Given the description of an element on the screen output the (x, y) to click on. 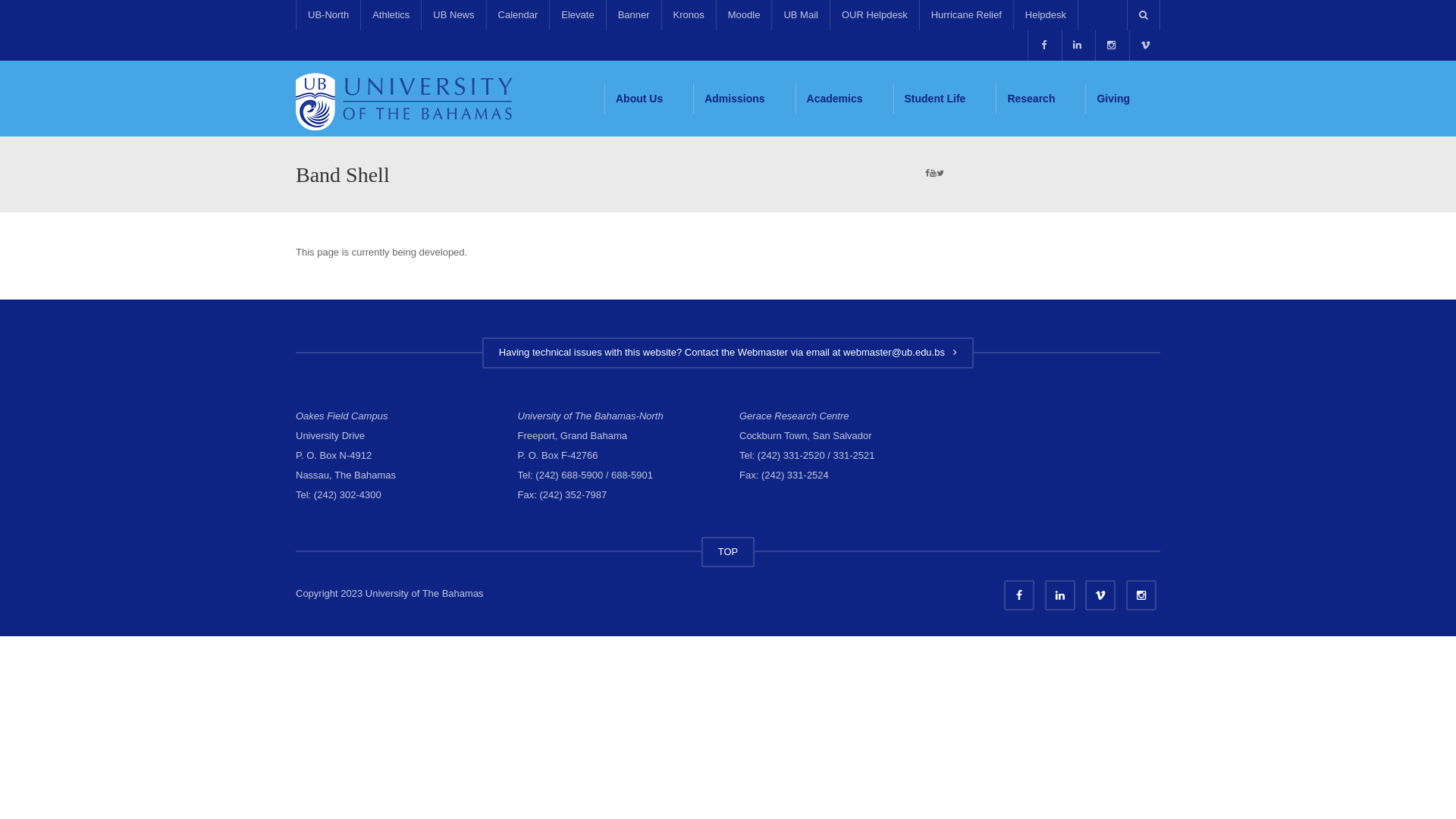
UB Mail Element type: text (800, 15)
(242) 331-2520 Element type: text (791, 455)
OUR Helpdesk Element type: text (874, 15)
Banner Element type: text (633, 15)
Kronos Element type: text (688, 15)
Academics Element type: text (844, 98)
(242) 302-4300 Element type: text (347, 494)
Admissions Element type: text (743, 98)
Research Element type: text (1040, 98)
About Us Element type: text (648, 98)
Hurricane Relief Element type: text (966, 15)
(242) 331-2524 Element type: text (794, 474)
Student Life Element type: text (944, 98)
Moodle Element type: text (743, 15)
Athletics Element type: text (390, 15)
TOP Element type: text (728, 551)
(242) 688-5900 Element type: text (568, 474)
Band Shell - University of The Bahamas Element type: hover (409, 97)
UB-North Element type: text (327, 15)
Helpdesk Element type: text (1045, 15)
Calendar Element type: text (517, 15)
UB News Element type: text (452, 15)
(242) 352-7987 Element type: text (572, 494)
Giving Element type: text (1122, 98)
Elevate Element type: text (577, 15)
